Given the description of an element on the screen output the (x, y) to click on. 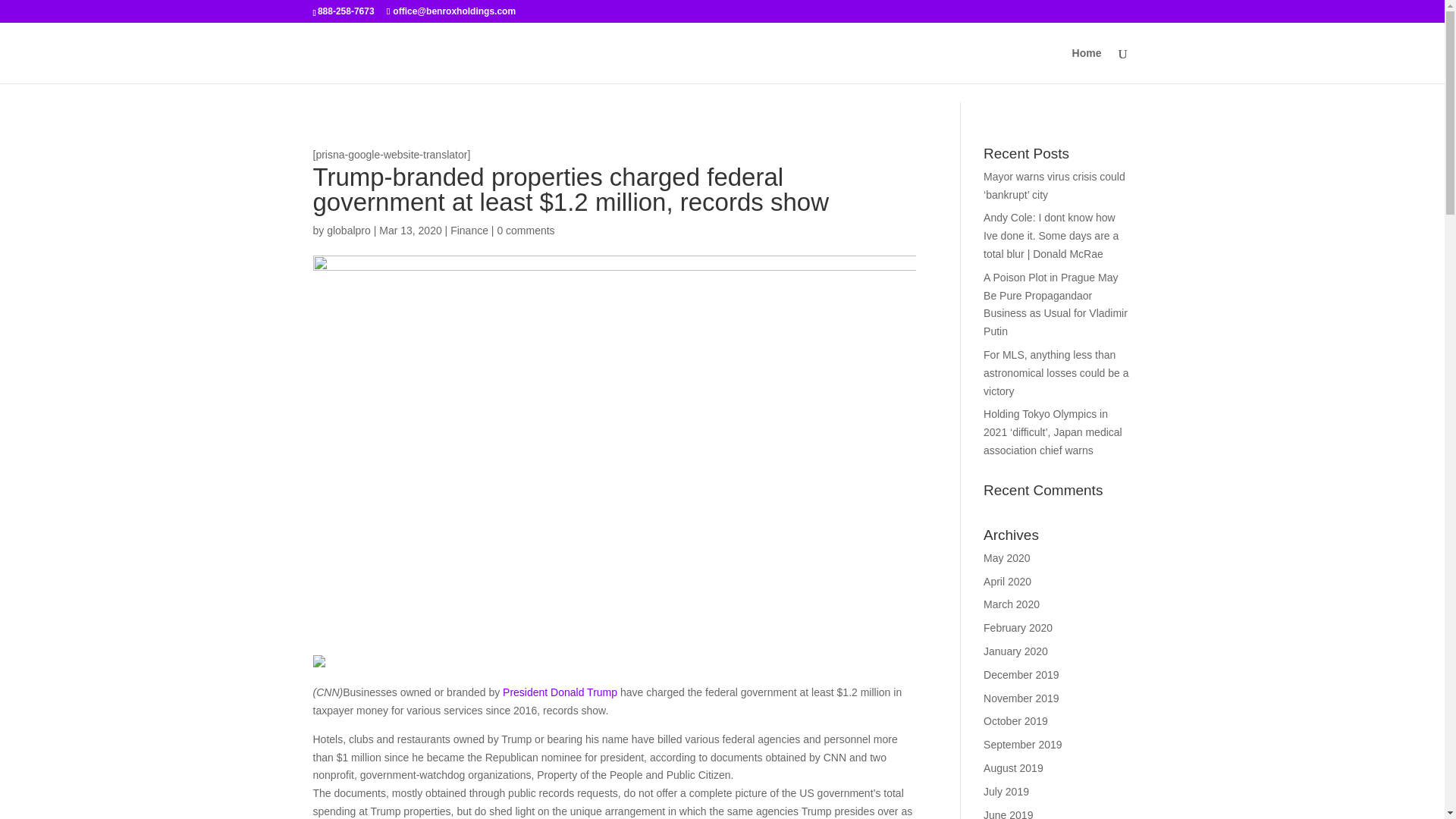
President Donald Trump (559, 692)
Posts by globalpro (348, 230)
February 2020 (1018, 627)
September 2019 (1023, 744)
0 comments (525, 230)
Finance (468, 230)
December 2019 (1021, 674)
November 2019 (1021, 698)
May 2020 (1006, 558)
